Given the description of an element on the screen output the (x, y) to click on. 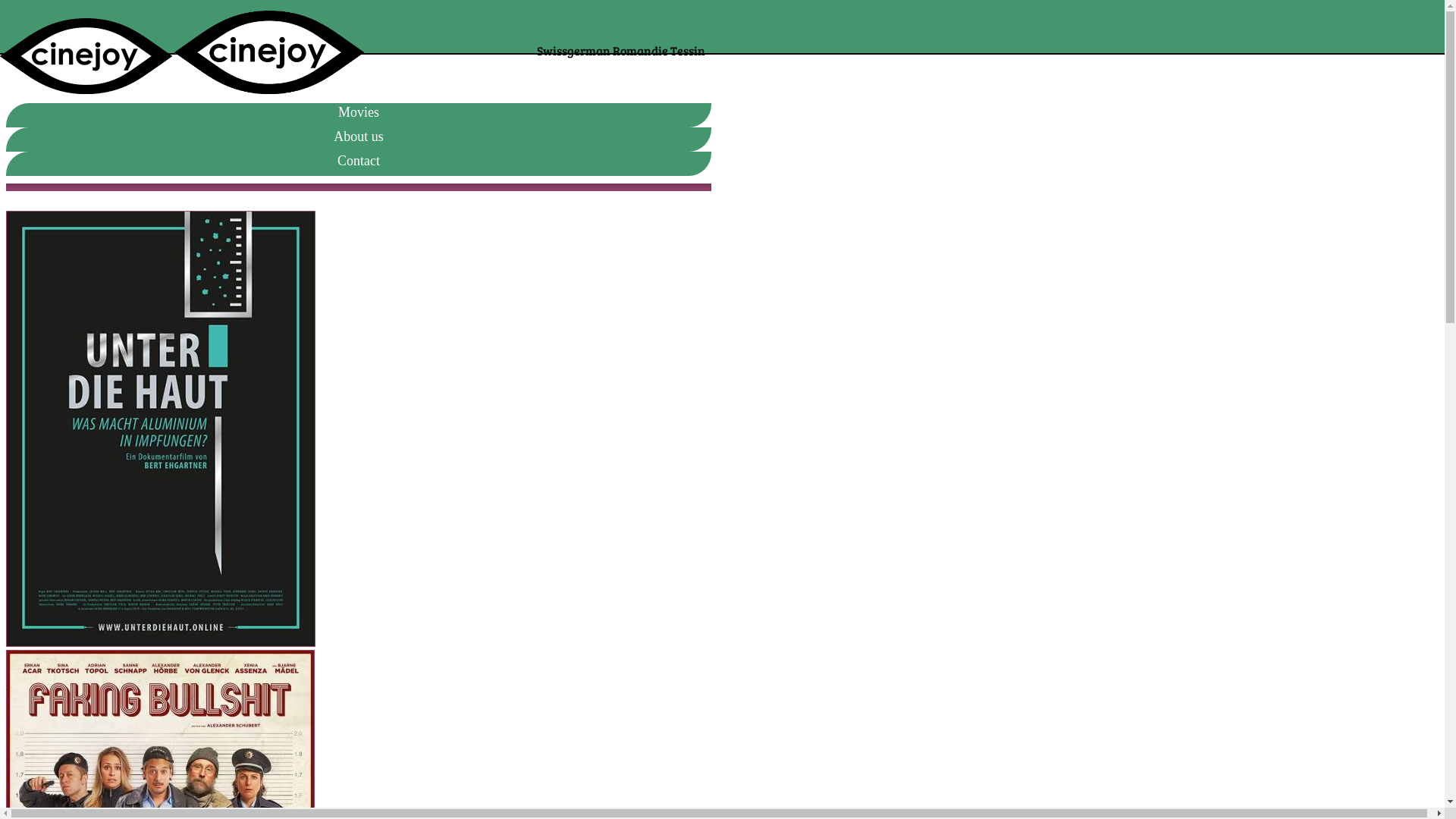
Romandie Element type: text (640, 50)
Contact Element type: text (358, 160)
Tessin Element type: text (687, 50)
Swissgerman Element type: text (573, 50)
About us Element type: text (358, 136)
Movies Element type: text (358, 111)
